Given the description of an element on the screen output the (x, y) to click on. 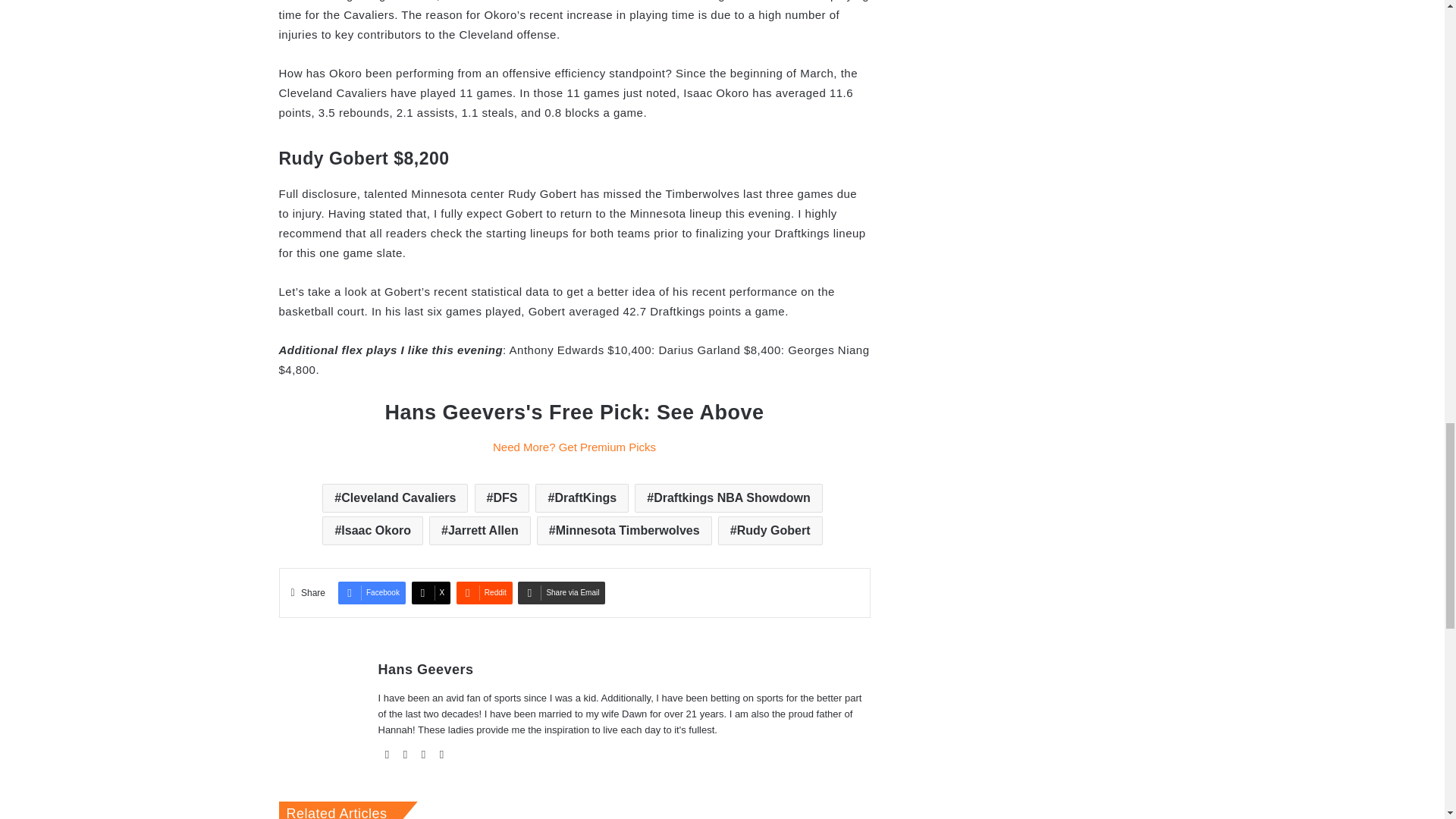
Reddit (484, 592)
X (431, 592)
Facebook (371, 592)
Share via Email (561, 592)
